Given the description of an element on the screen output the (x, y) to click on. 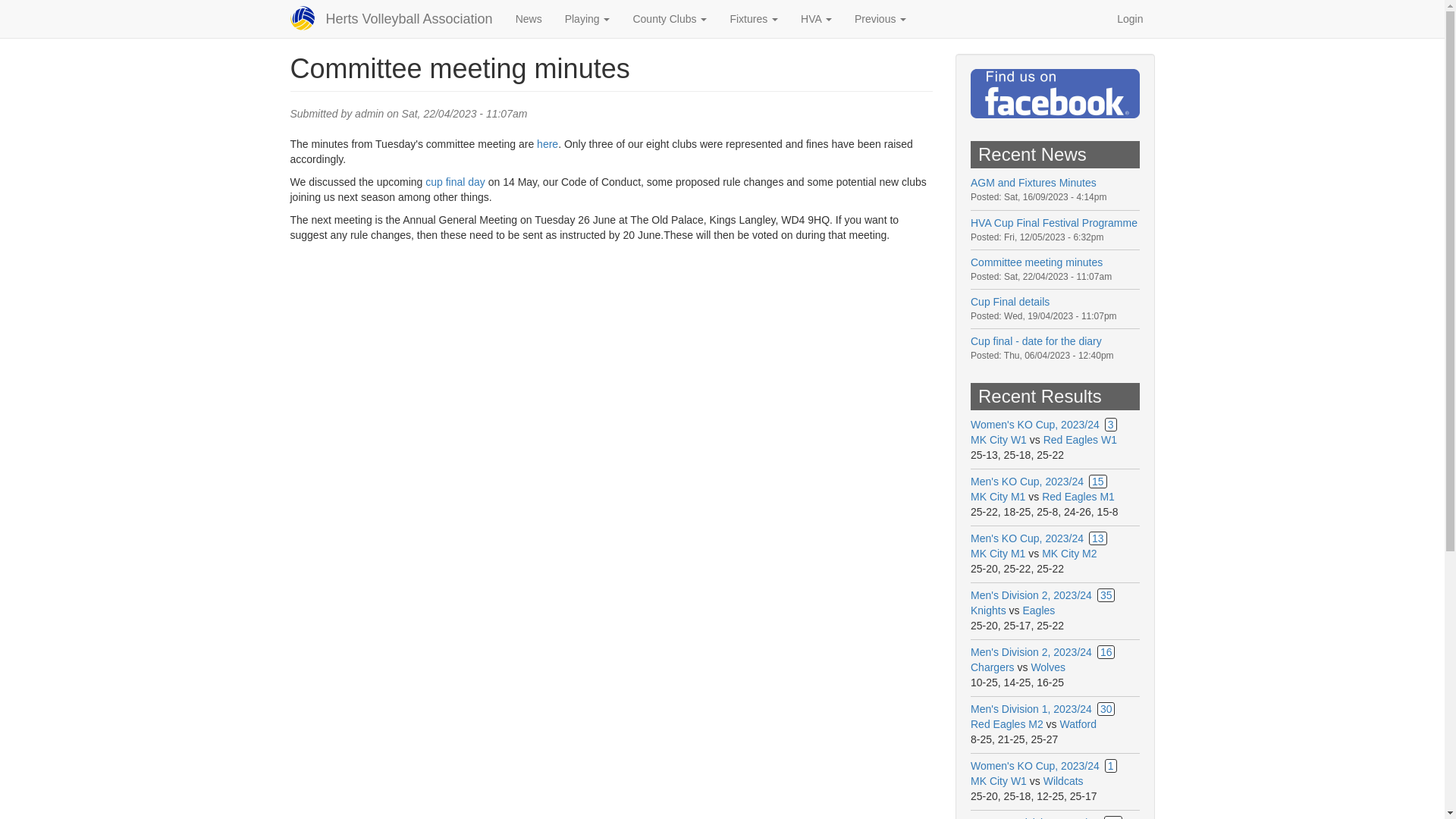
Home (408, 18)
Previous (880, 18)
Playing (587, 18)
News (528, 18)
County Clubs (669, 18)
Home (306, 17)
Fixtures (753, 18)
HVA (816, 18)
Herts Volleyball Association (408, 18)
